Given the description of an element on the screen output the (x, y) to click on. 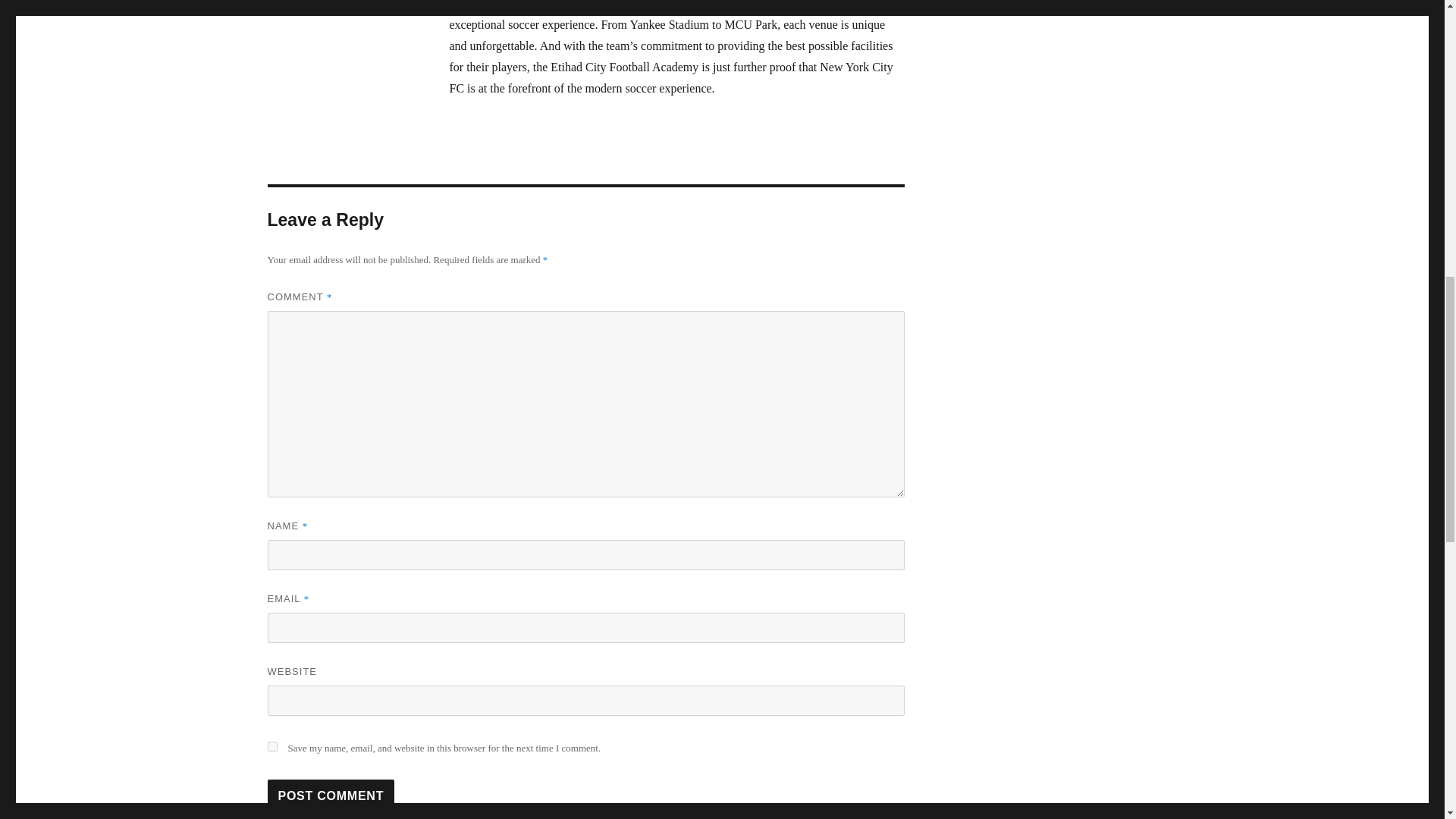
yes (271, 746)
Post Comment (330, 795)
Post Comment (330, 795)
